Given the description of an element on the screen output the (x, y) to click on. 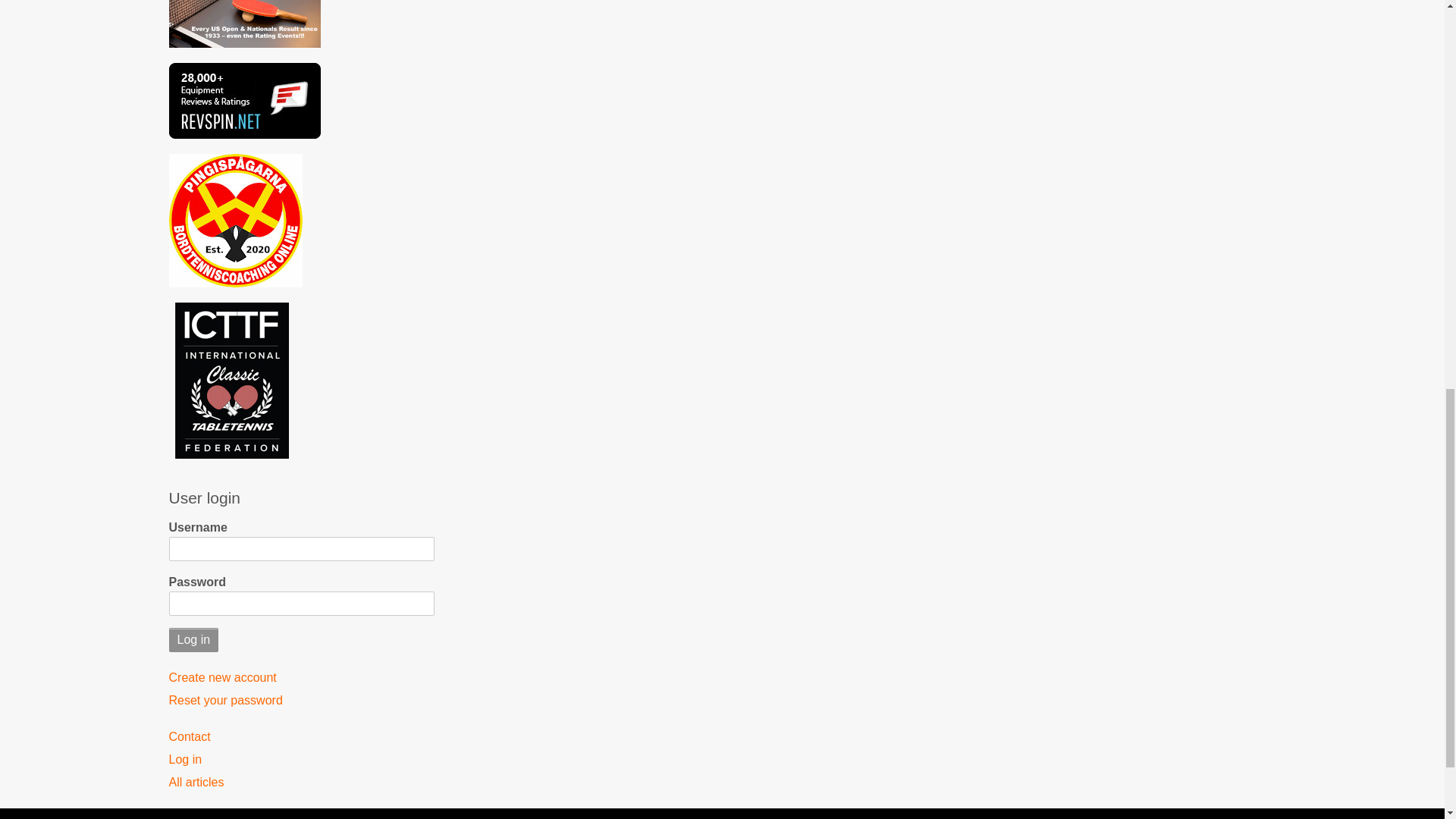
Log in (193, 639)
Reset your password (300, 700)
Log in (193, 639)
Log in (300, 759)
Create a new user account. (300, 677)
Send password reset instructions via email. (300, 700)
All articles (300, 782)
Create new account (300, 677)
Contact (300, 736)
